Given the description of an element on the screen output the (x, y) to click on. 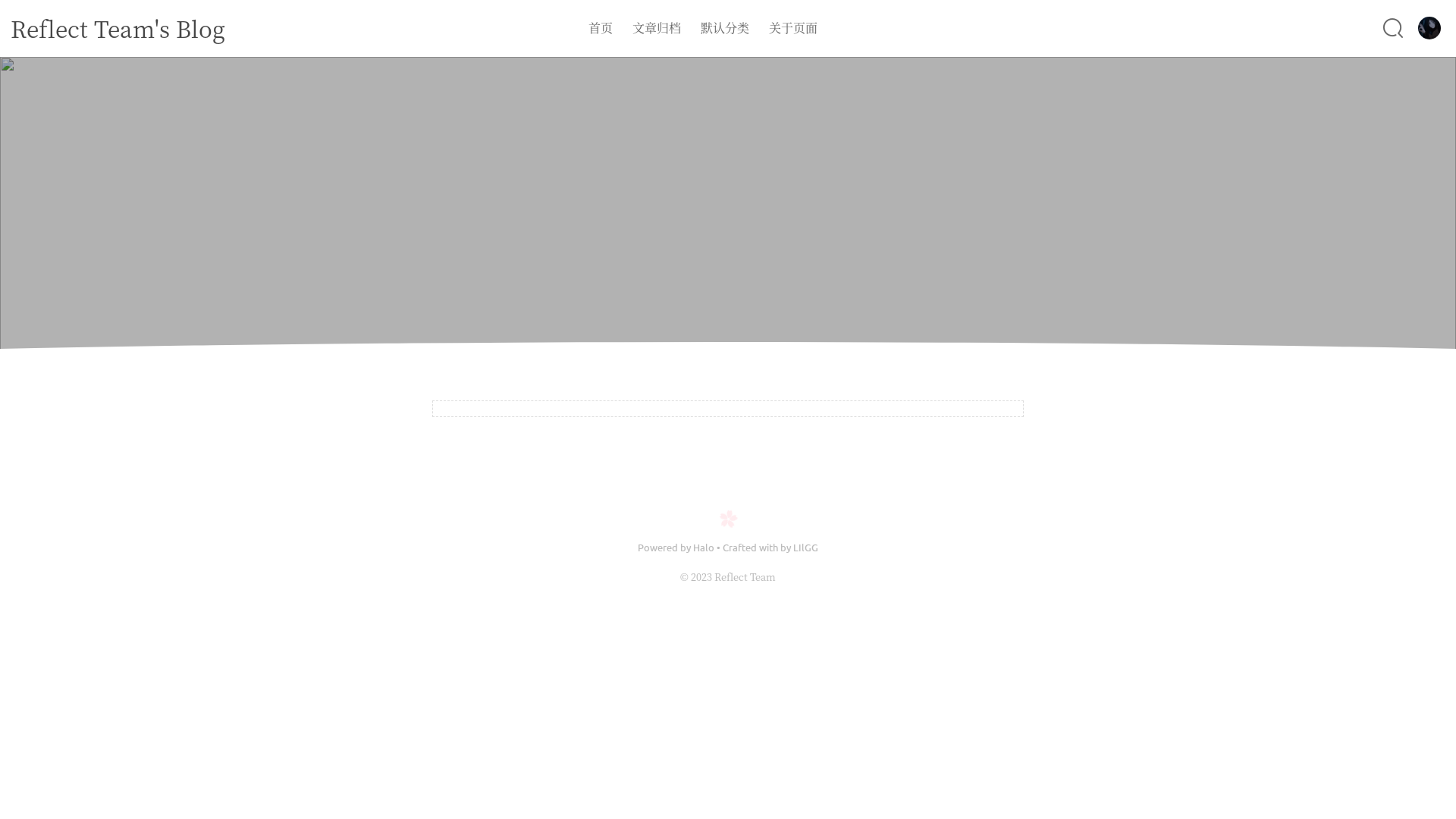
Reflect Team's Blog Element type: text (117, 27)
LIlGG Element type: text (805, 546)
Halo Element type: text (703, 546)
